Given the description of an element on the screen output the (x, y) to click on. 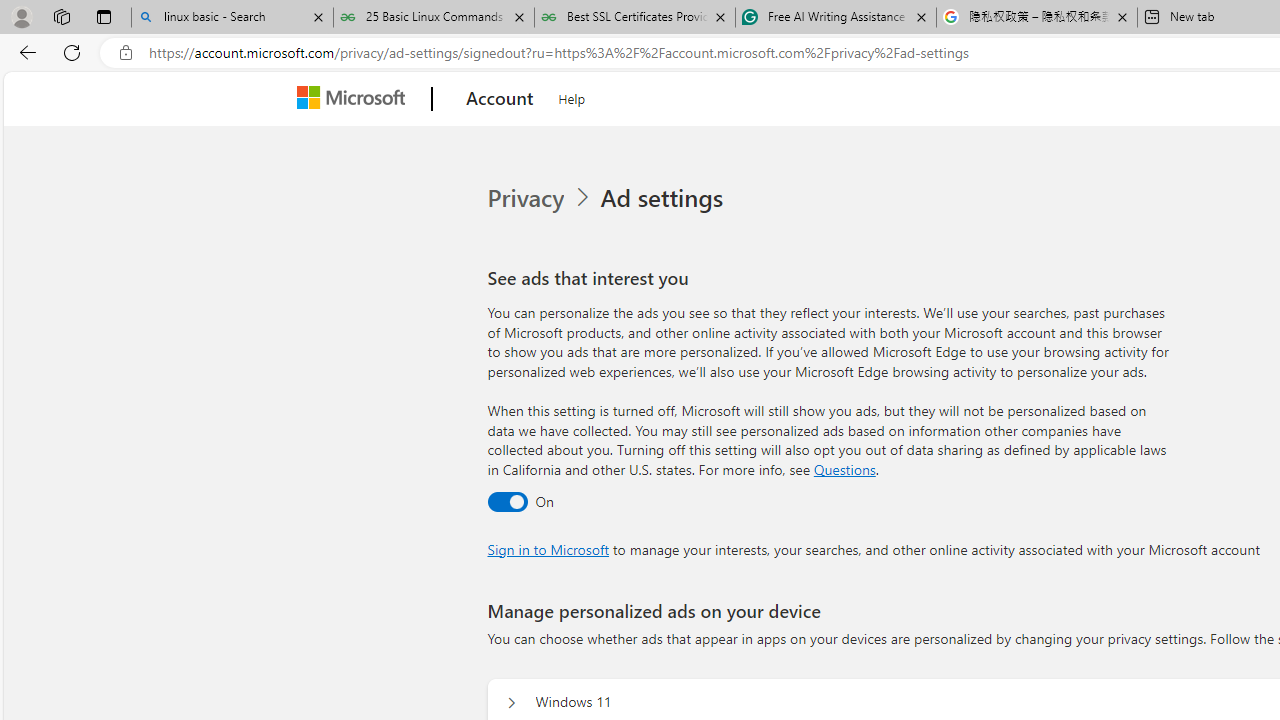
Go to Questions section (843, 468)
Sign in to Microsoft (548, 548)
Account (499, 99)
Privacy (541, 197)
Help (572, 96)
Privacy (527, 197)
Ad settings (666, 197)
25 Basic Linux Commands For Beginners - GeeksforGeeks (433, 17)
Help (572, 96)
Microsoft (354, 99)
